Given the description of an element on the screen output the (x, y) to click on. 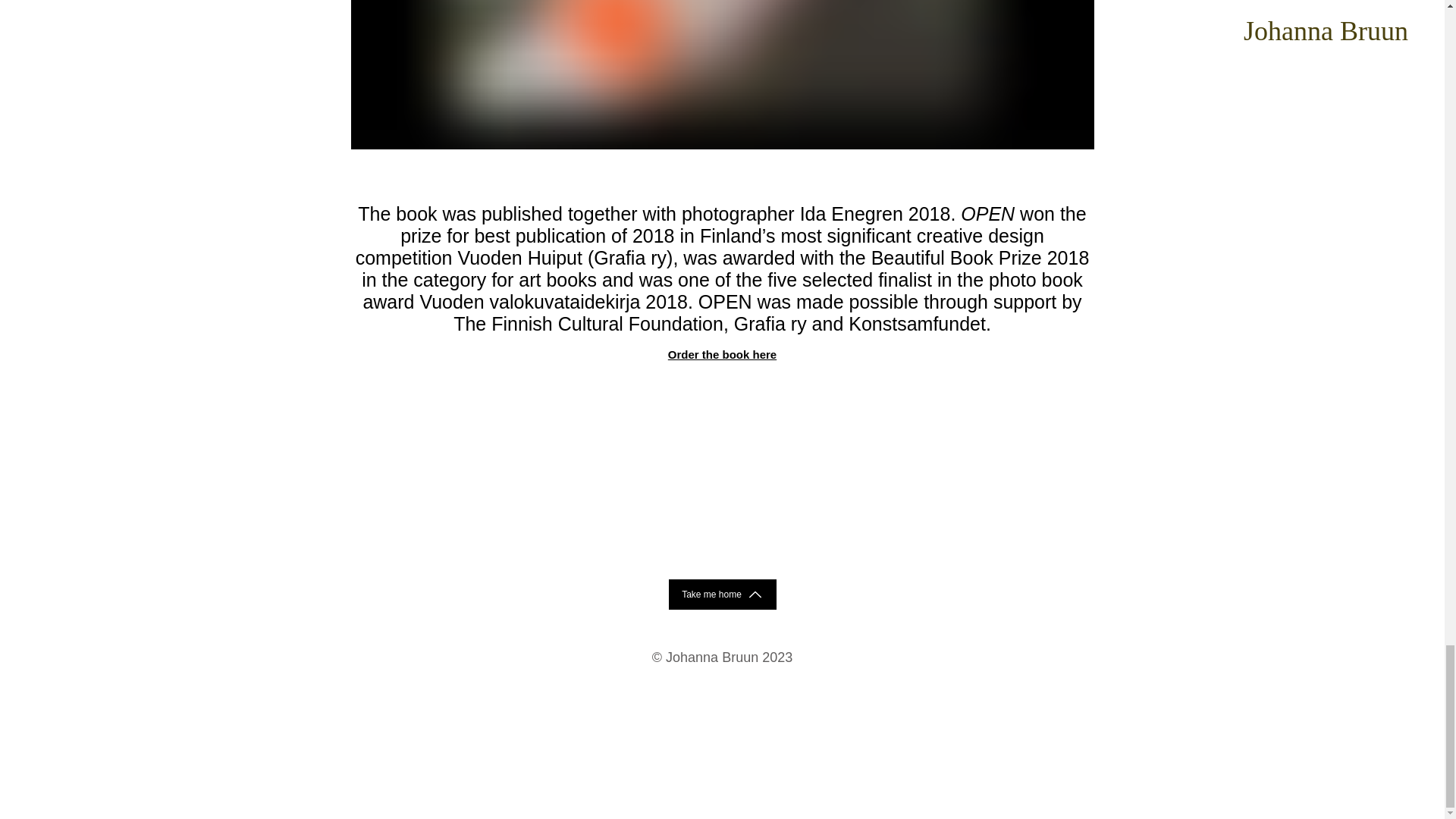
Take me home (722, 594)
Order the book here (722, 354)
